Given the description of an element on the screen output the (x, y) to click on. 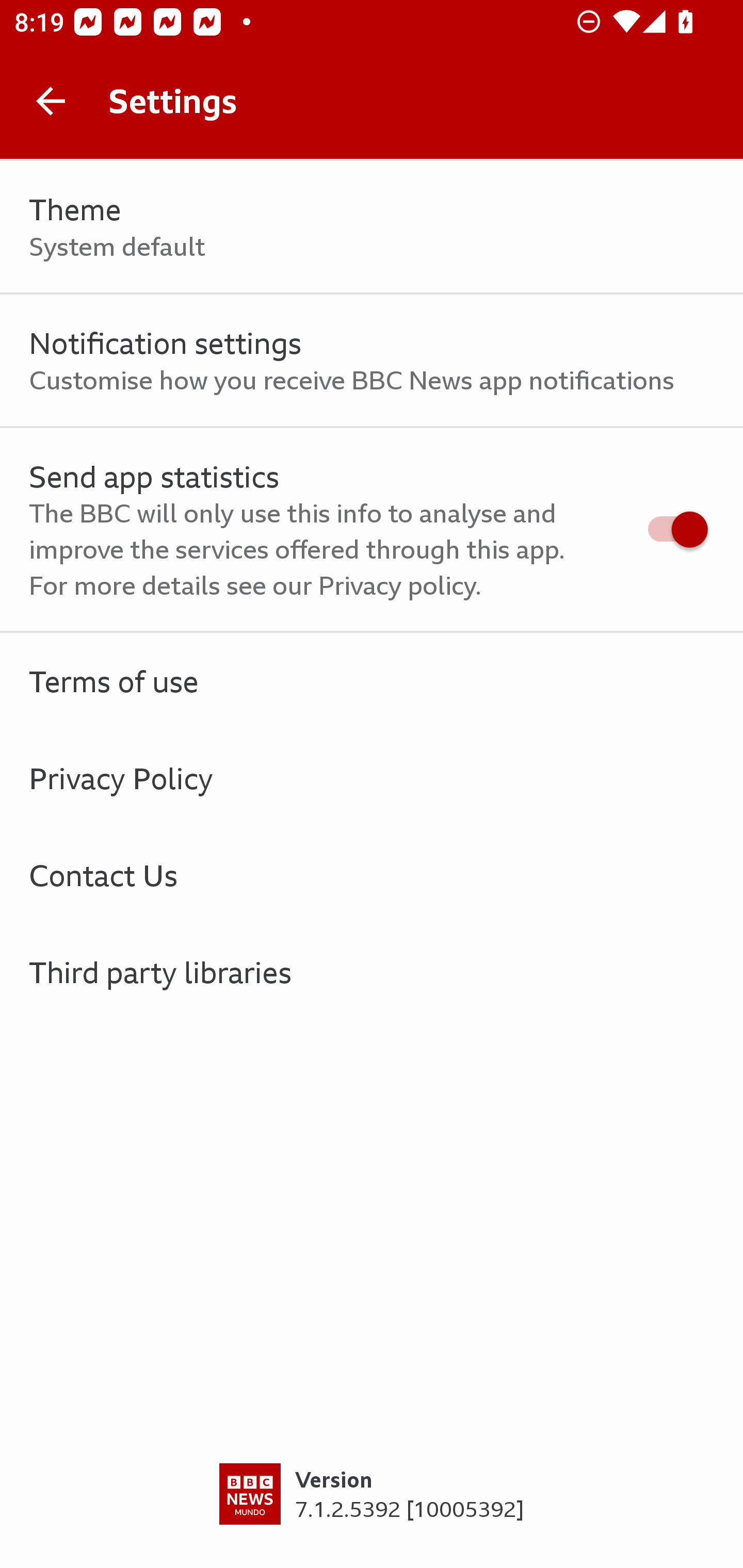
Back (50, 101)
Theme System default (371, 227)
Terms of use (371, 681)
Privacy Policy (371, 777)
Contact Us (371, 874)
Third party libraries (371, 971)
Version 7.1.2.5392 [10005392] (371, 1515)
